Given the description of an element on the screen output the (x, y) to click on. 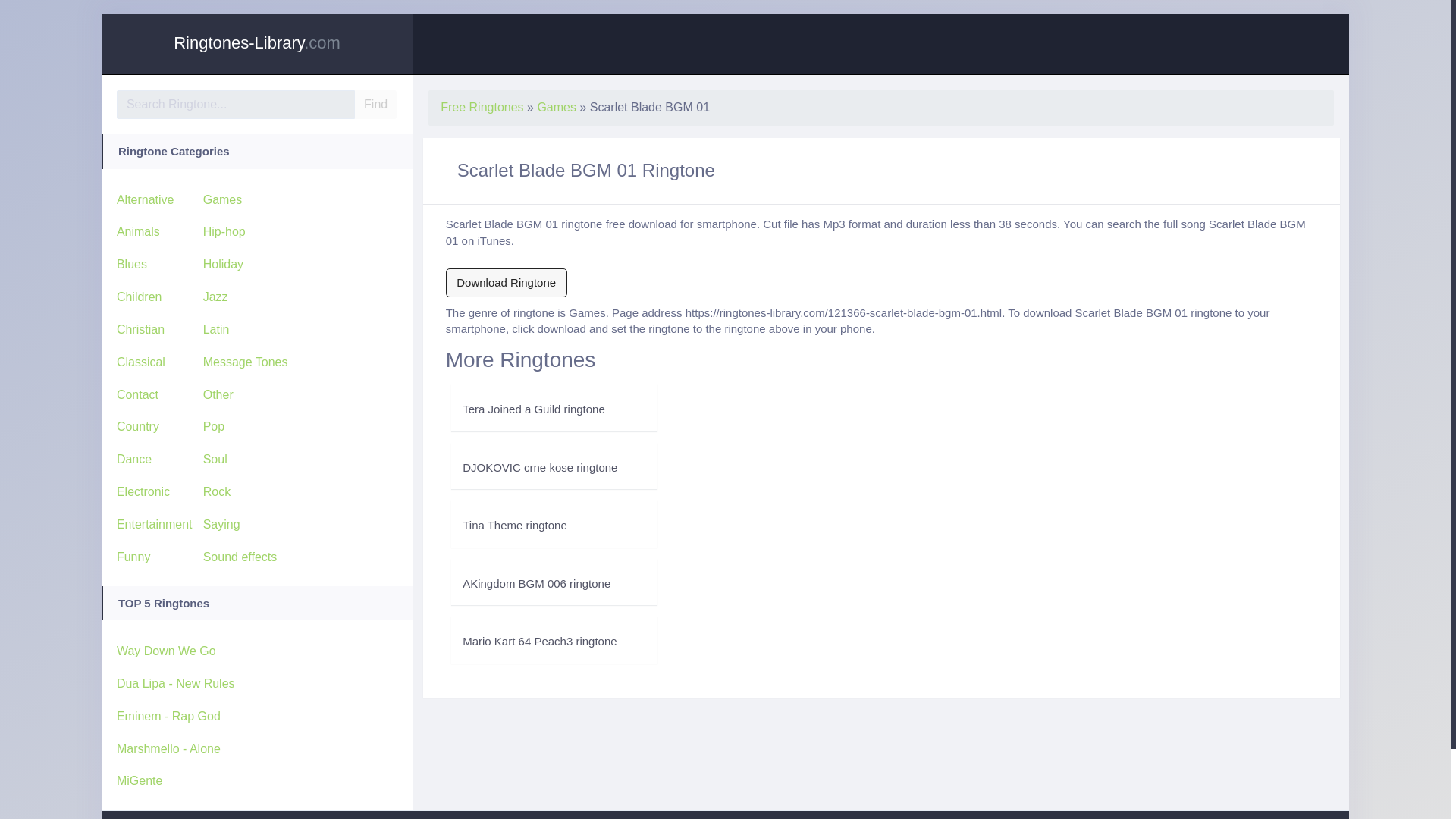
Holiday (223, 264)
Christian (140, 328)
Pop (213, 426)
Eminem - Rap God (168, 716)
Country (137, 426)
Alternative (145, 199)
MiGente (138, 780)
Children (138, 296)
Find (374, 104)
Find (374, 104)
